Given the description of an element on the screen output the (x, y) to click on. 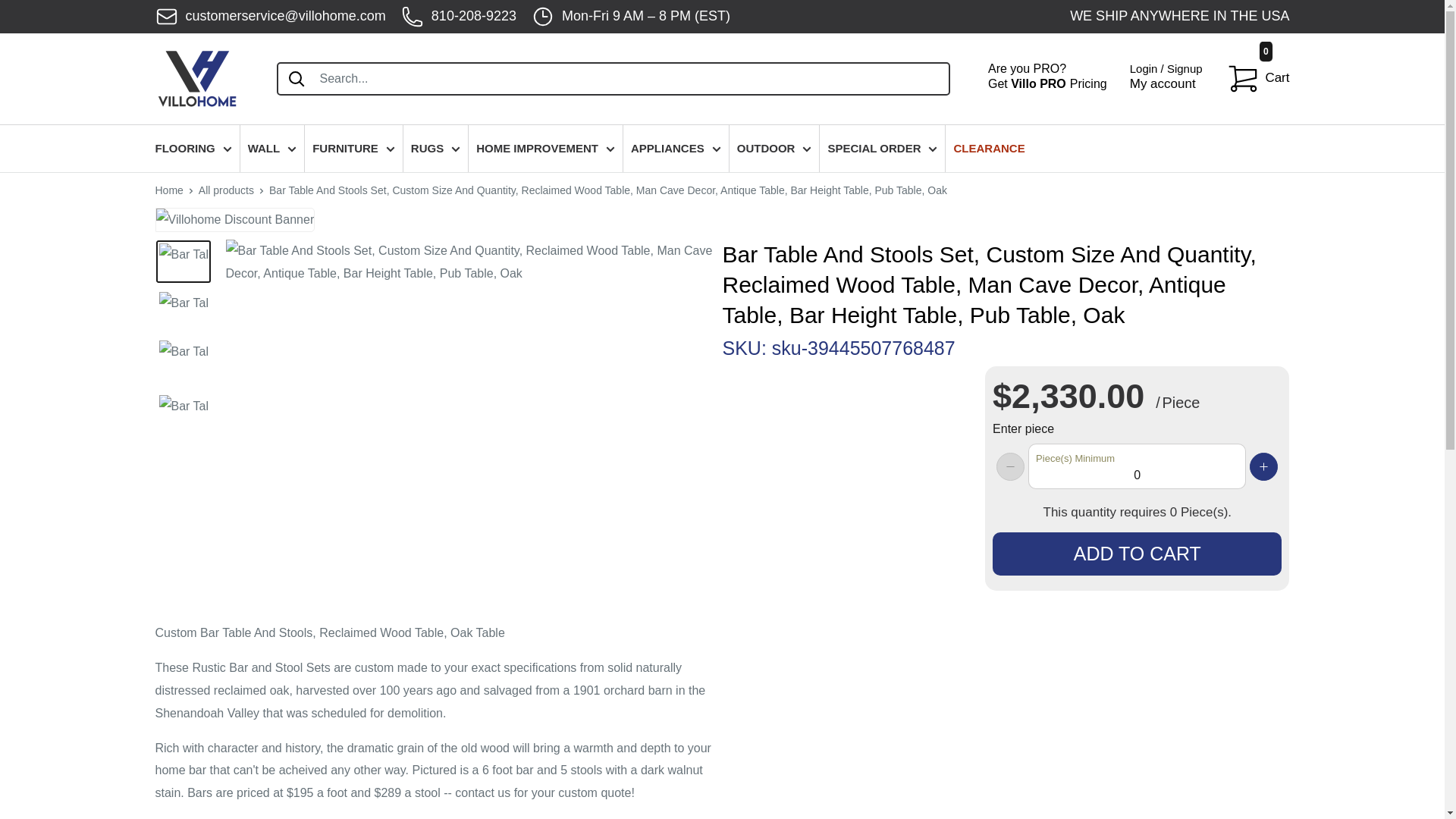
Villopro (1047, 78)
810-208-9223 (458, 16)
0 (1136, 465)
Villohome Discount Banner (234, 219)
